Given the description of an element on the screen output the (x, y) to click on. 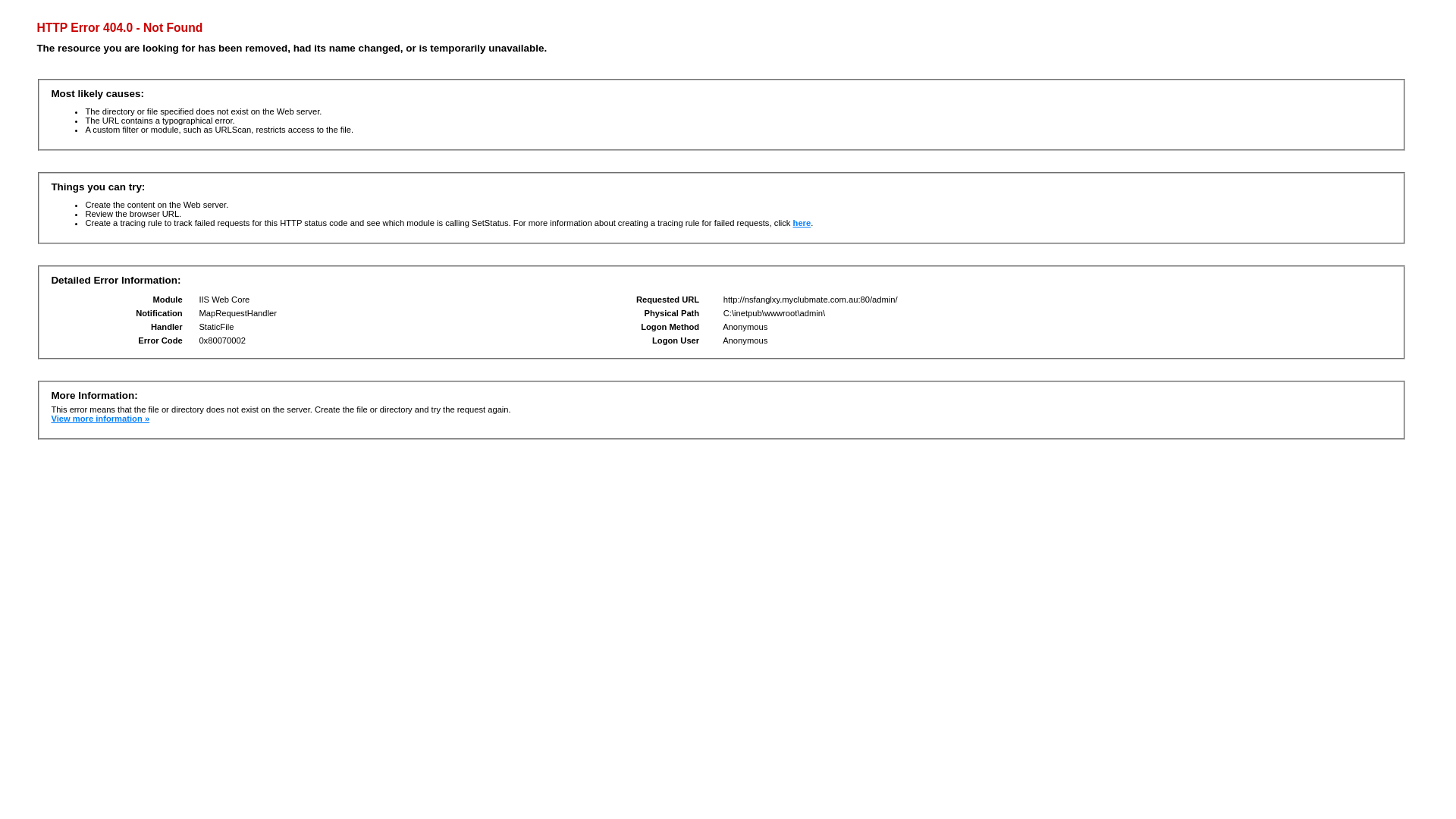
here Element type: text (802, 222)
